Given the description of an element on the screen output the (x, y) to click on. 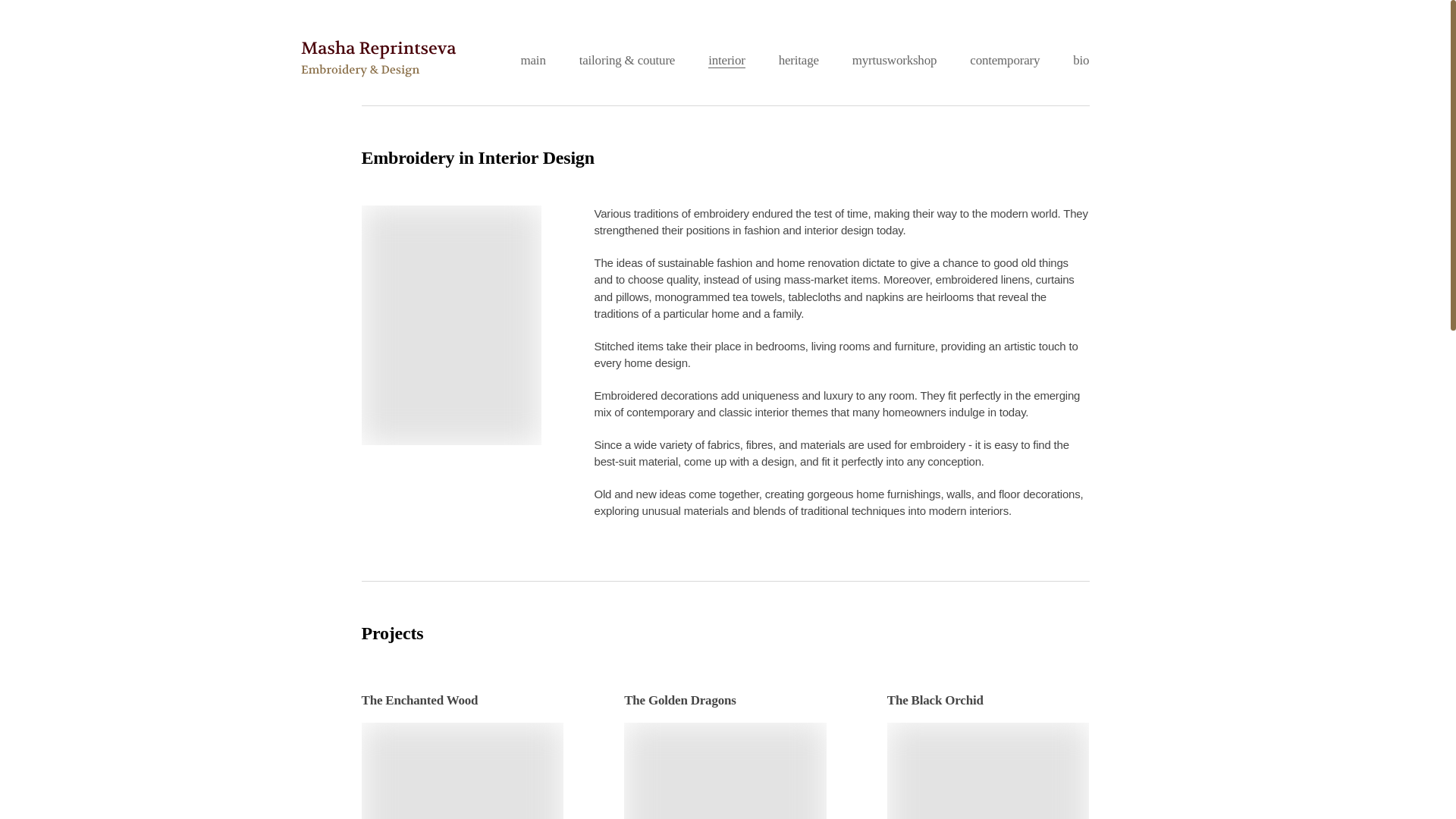
The Golden Dragons (725, 755)
heritage (798, 60)
main (531, 60)
myrtusworkshop (893, 60)
The Enchanted Wood (462, 755)
The Black Orchid (987, 755)
contemporary (1004, 60)
bio (1081, 60)
interior (725, 60)
